Given the description of an element on the screen output the (x, y) to click on. 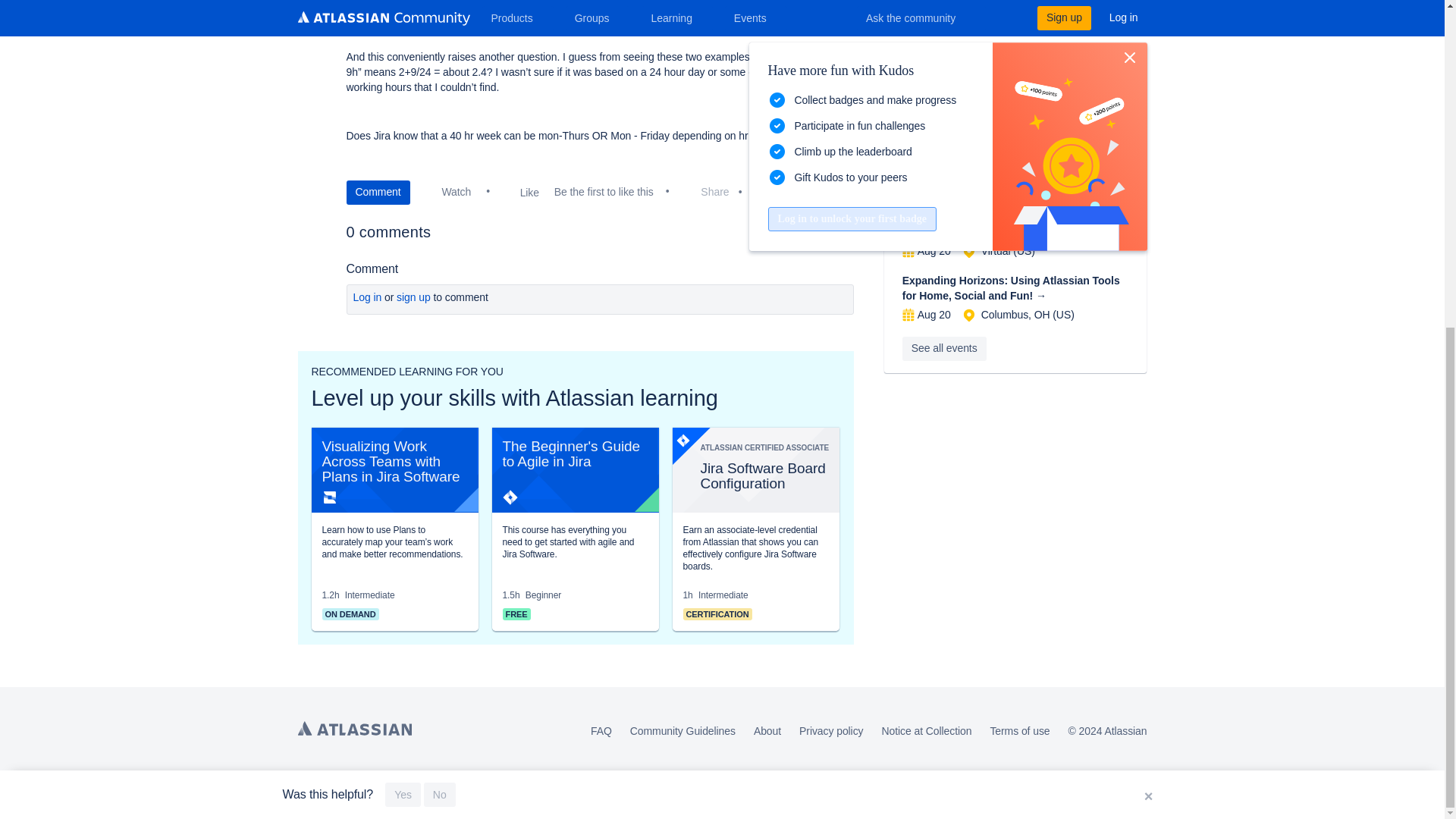
Jira Software (509, 497)
Jira Software (682, 440)
AUG Leaders (911, 139)
jira-align (329, 497)
